Given the description of an element on the screen output the (x, y) to click on. 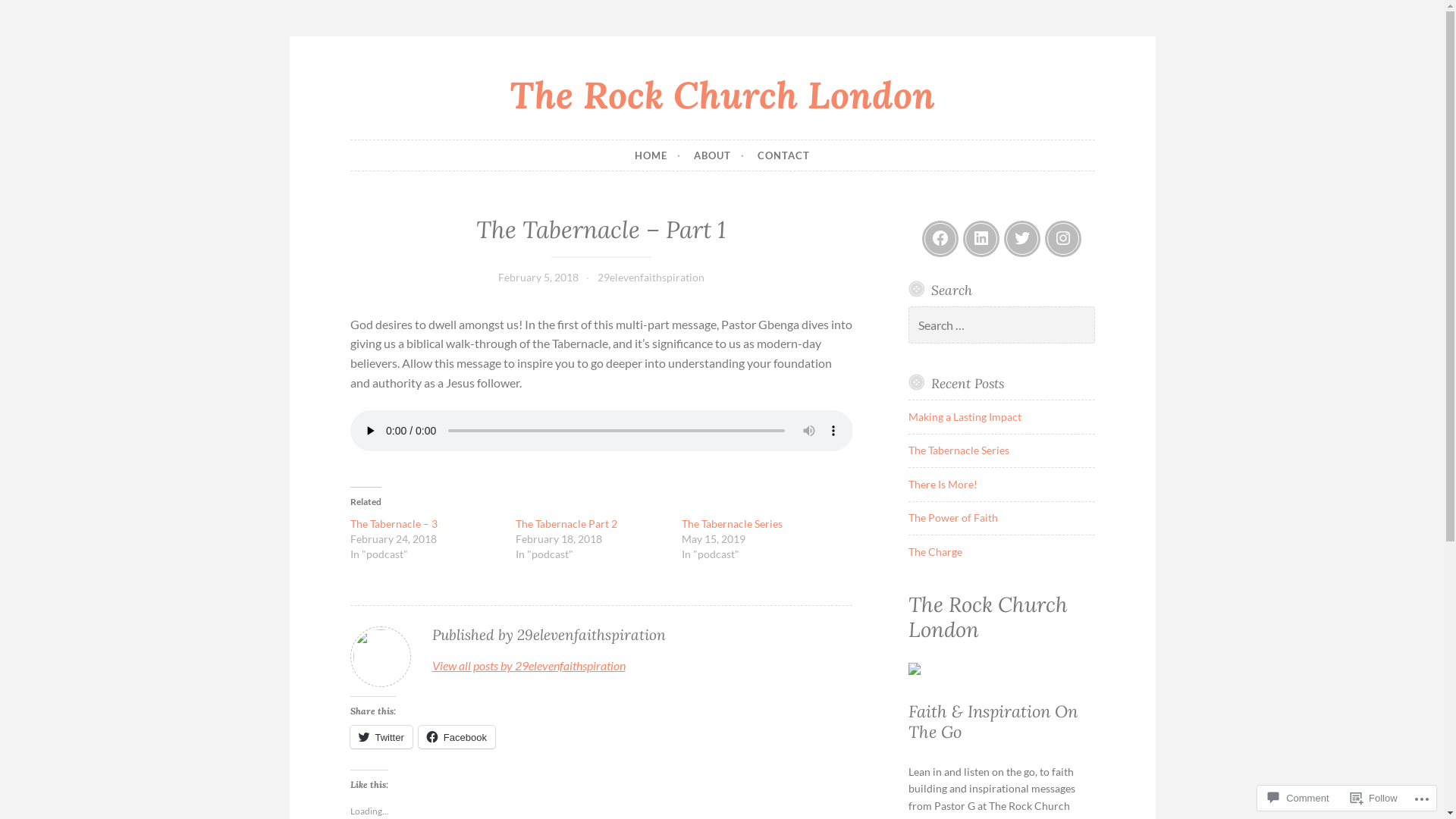
February 5, 2018 Element type: text (538, 276)
Search Element type: text (32, 14)
29elevenfaithspiration Element type: text (650, 276)
Follow Element type: text (1373, 797)
The Charge Element type: text (935, 551)
Twitter Element type: text (381, 736)
Comment Element type: text (1297, 797)
View all posts by 29elevenfaithspiration Element type: text (528, 665)
CONTACT Element type: text (783, 155)
Facebook Element type: text (456, 736)
Making a Lasting Impact Element type: text (964, 416)
The Rock Church London Element type: text (722, 94)
HOME Element type: text (657, 155)
ABOUT Element type: text (718, 155)
The Tabernacle Series Element type: text (958, 449)
There Is More! Element type: text (942, 483)
The Tabernacle Series Element type: text (731, 523)
The Tabernacle Part 2 Element type: text (566, 523)
The Power of Faith Element type: text (952, 517)
